Given the description of an element on the screen output the (x, y) to click on. 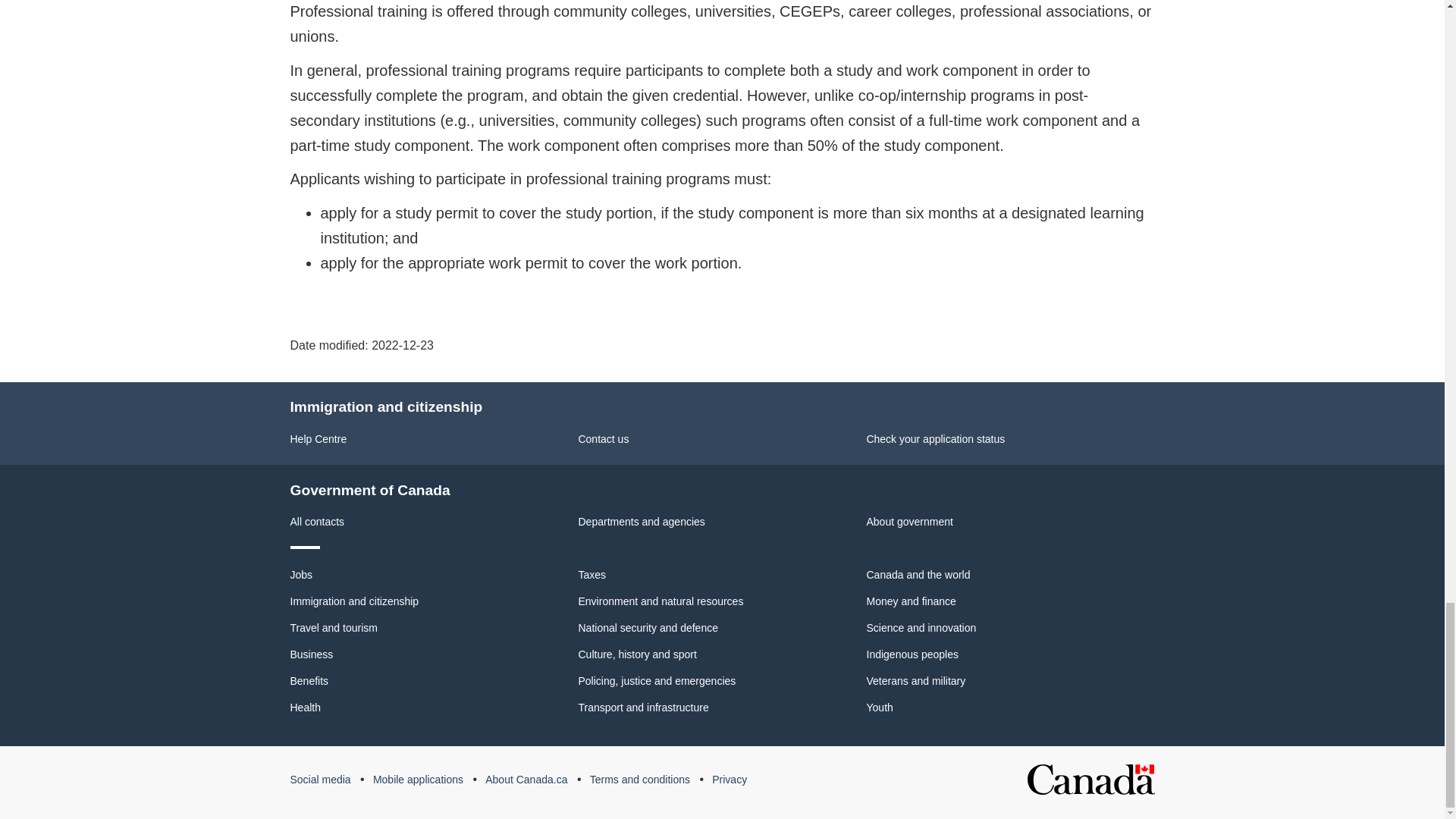
Check your application status (935, 439)
Contact us (603, 439)
Help Centre (317, 439)
All contacts (316, 521)
